Given the description of an element on the screen output the (x, y) to click on. 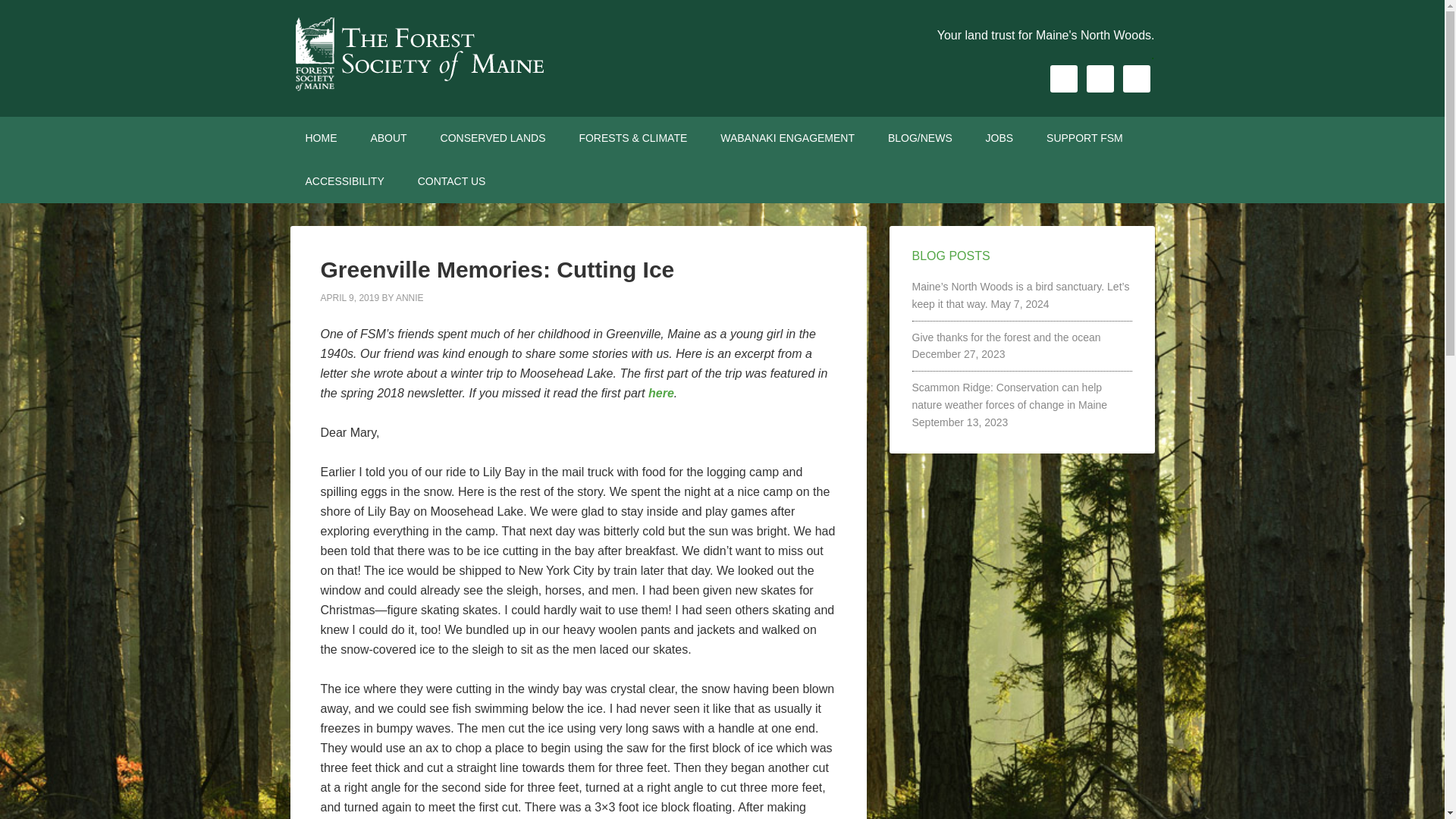
WABANAKI ENGAGEMENT (786, 138)
CONSERVED LANDS (492, 138)
JOBS (1000, 138)
HOME (320, 138)
SUPPORT FSM (1084, 138)
FOREST SOCIETY OF MAINE (418, 52)
ABOUT (388, 138)
